Given the description of an element on the screen output the (x, y) to click on. 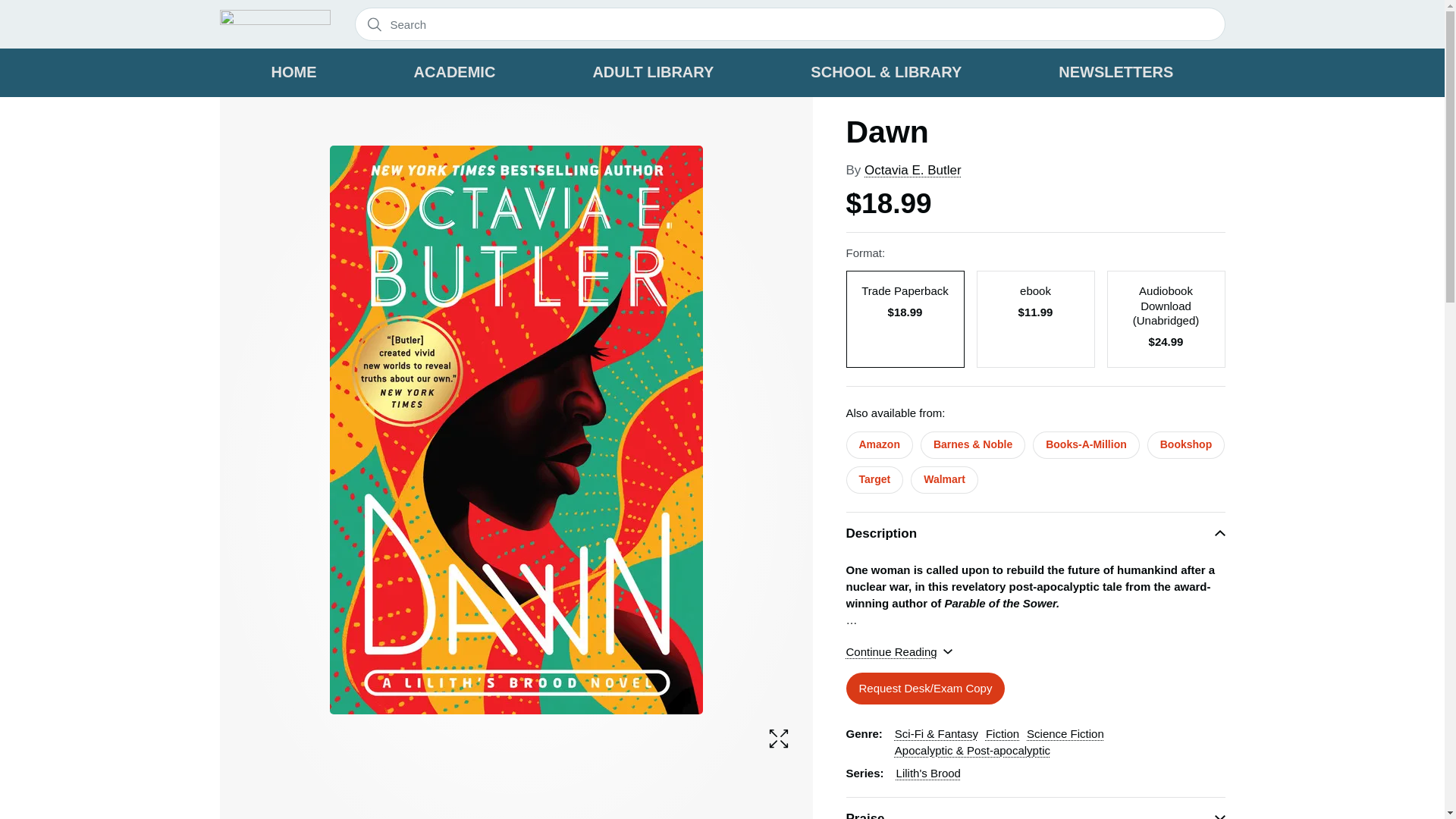
Go to Hachette Book Group home (274, 23)
ACADEMIC (454, 72)
HOME (293, 72)
